Given the description of an element on the screen output the (x, y) to click on. 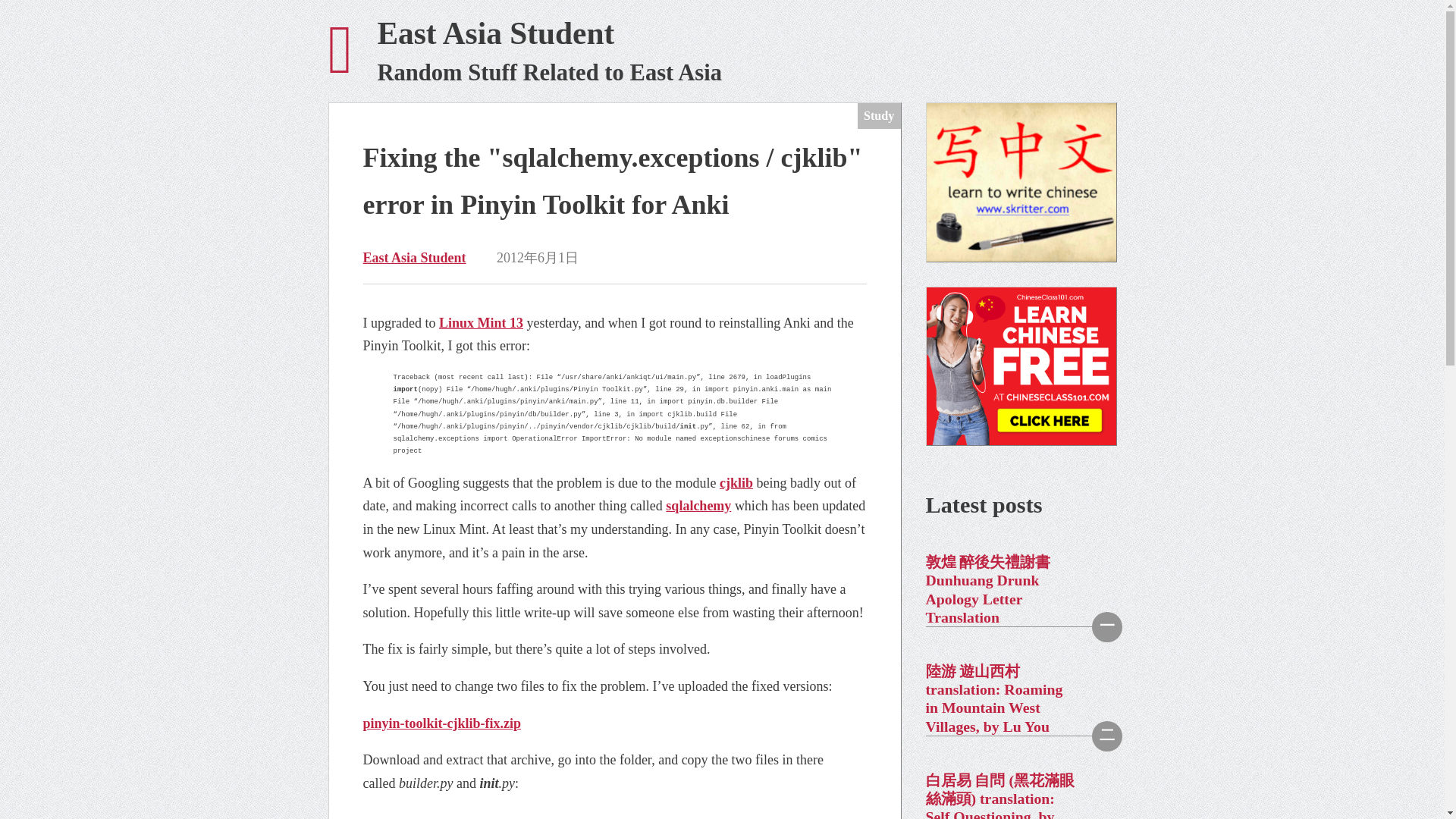
sqlalchemy (697, 505)
East Asia Student (413, 257)
pinyin-toolkit-cjklib-fix.zip (441, 723)
Linux Mint 13 (480, 322)
East Asia Student Home (721, 51)
cjklib (735, 482)
cjklib: Han character library for CJKV languages  (735, 482)
pinyin-toolkit-cjklib-fix.zip (721, 51)
The Python SQL Toolkit and Object Relational Mapper (441, 723)
Study (697, 505)
